Given the description of an element on the screen output the (x, y) to click on. 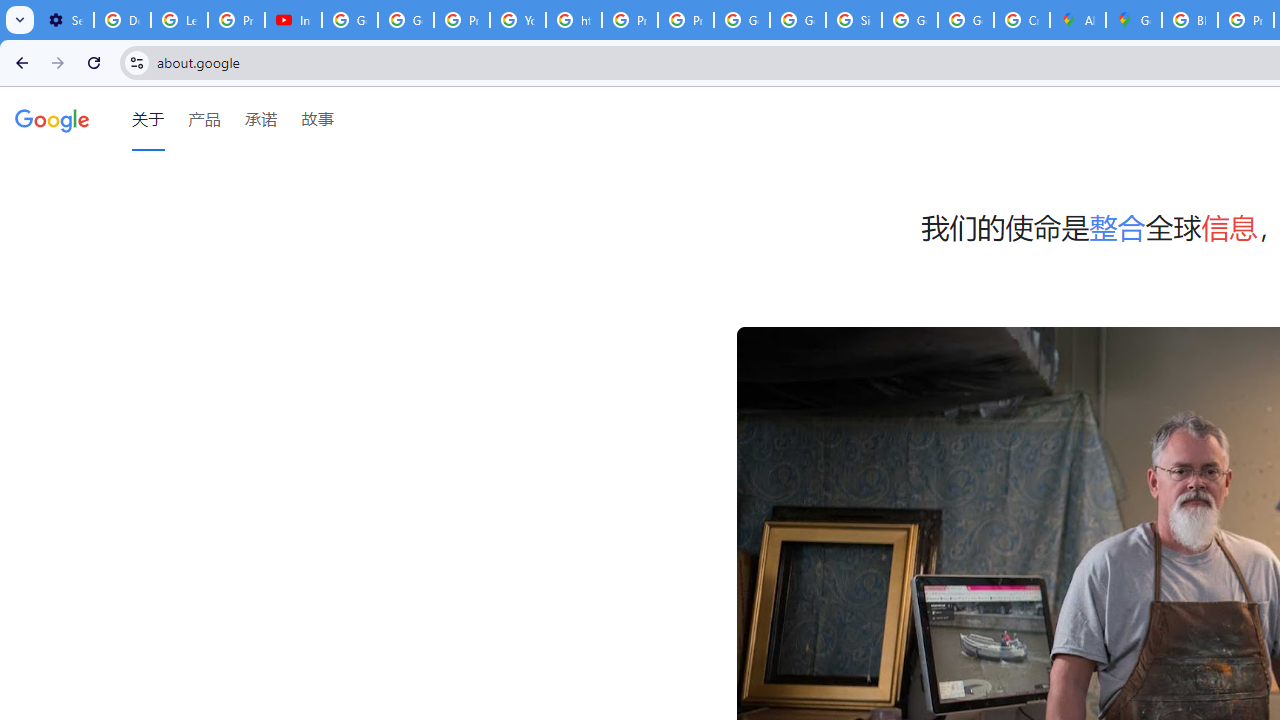
Privacy Help Center - Policies Help (629, 20)
Delete photos & videos - Computer - Google Photos Help (122, 20)
Privacy Help Center - Policies Help (461, 20)
Introduction | Google Privacy Policy - YouTube (293, 20)
Create your Google Account (1021, 20)
Blogger Policies and Guidelines - Transparency Center (1190, 20)
Sign in - Google Accounts (853, 20)
Settings - Customize profile (65, 20)
https://scholar.google.com/ (573, 20)
